Given the description of an element on the screen output the (x, y) to click on. 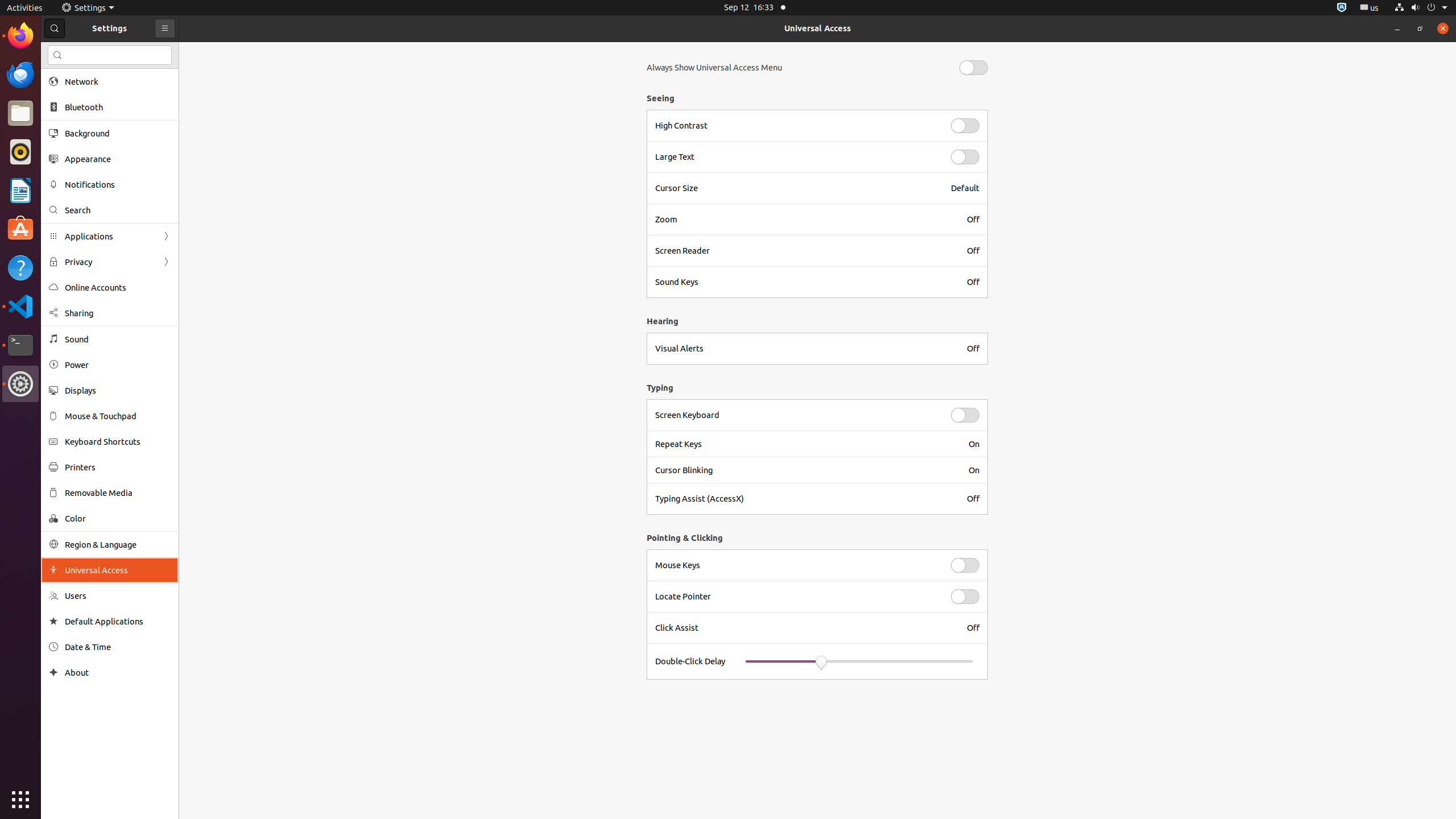
IsaHelpMain.desktop Element type: label (75, 170)
Off Element type: label (972, 219)
Date & Time Element type: label (117, 646)
li.txt Element type: label (146, 50)
Large Text Element type: label (796, 156)
